Given the description of an element on the screen output the (x, y) to click on. 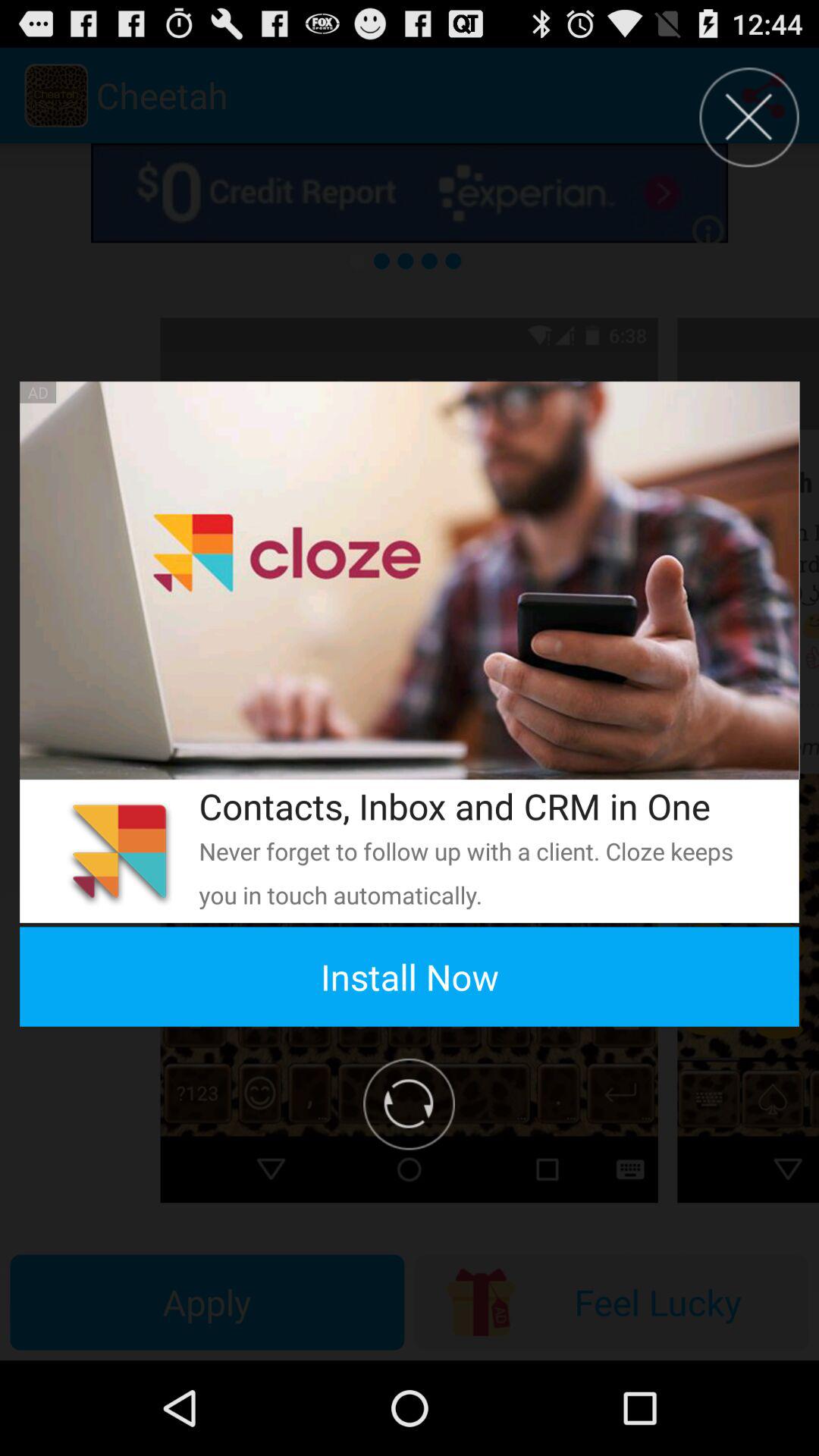
press never forget to app (479, 872)
